Given the description of an element on the screen output the (x, y) to click on. 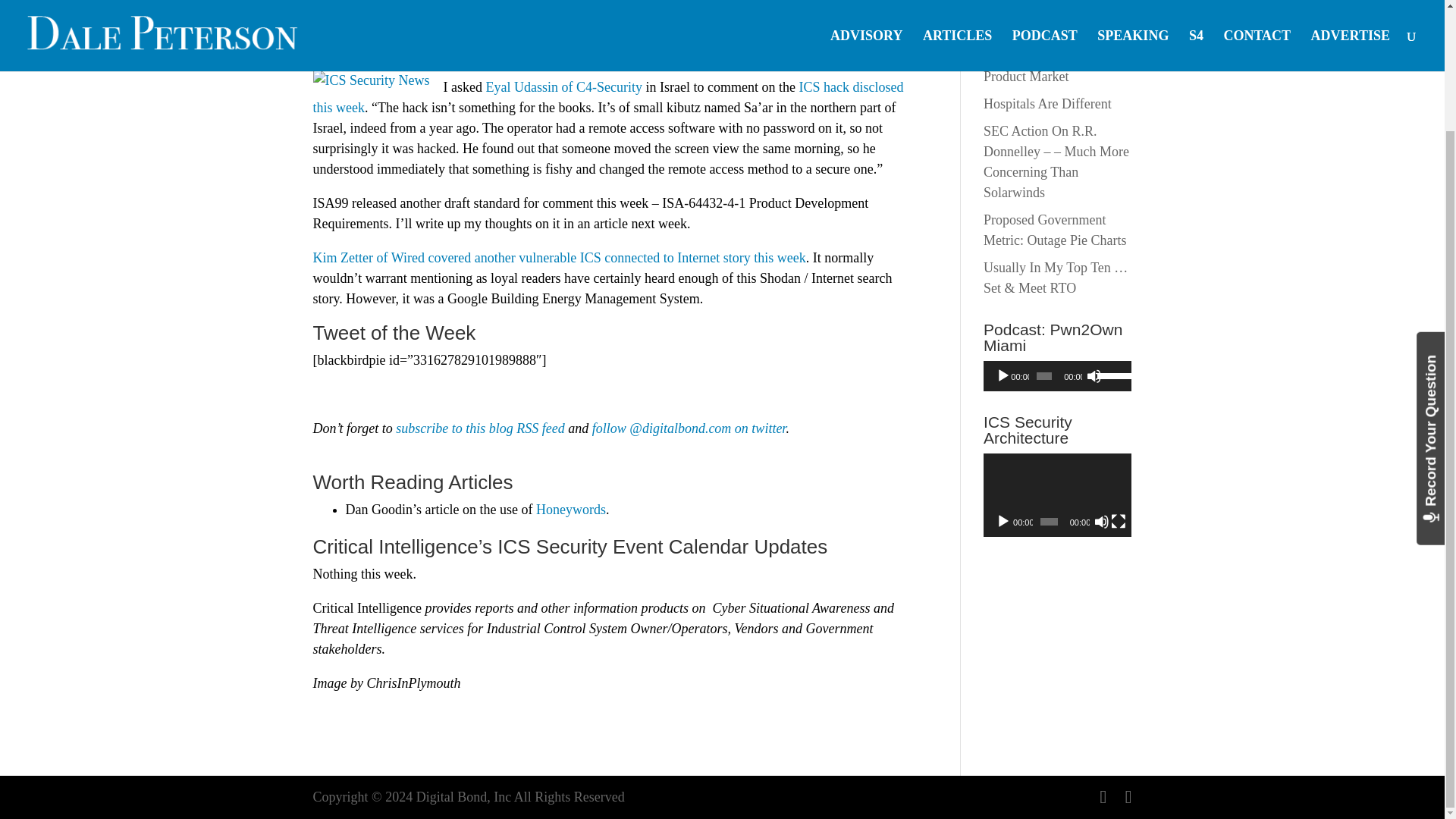
Play (1002, 376)
Proposed Government Metric: Outage Pie Charts (1054, 230)
ICS hack disclosed this week (607, 97)
Hospitals Are Different (1048, 103)
Mute (1094, 376)
2013 (387, 14)
Play (1002, 521)
subscribe to this blog RSS feed (480, 427)
Eyal Udassin of C4-Security (563, 87)
Mute (1101, 521)
Fullscreen (1117, 521)
Honeywords (570, 509)
The Next OT Security Product Market (1044, 66)
